Given the description of an element on the screen output the (x, y) to click on. 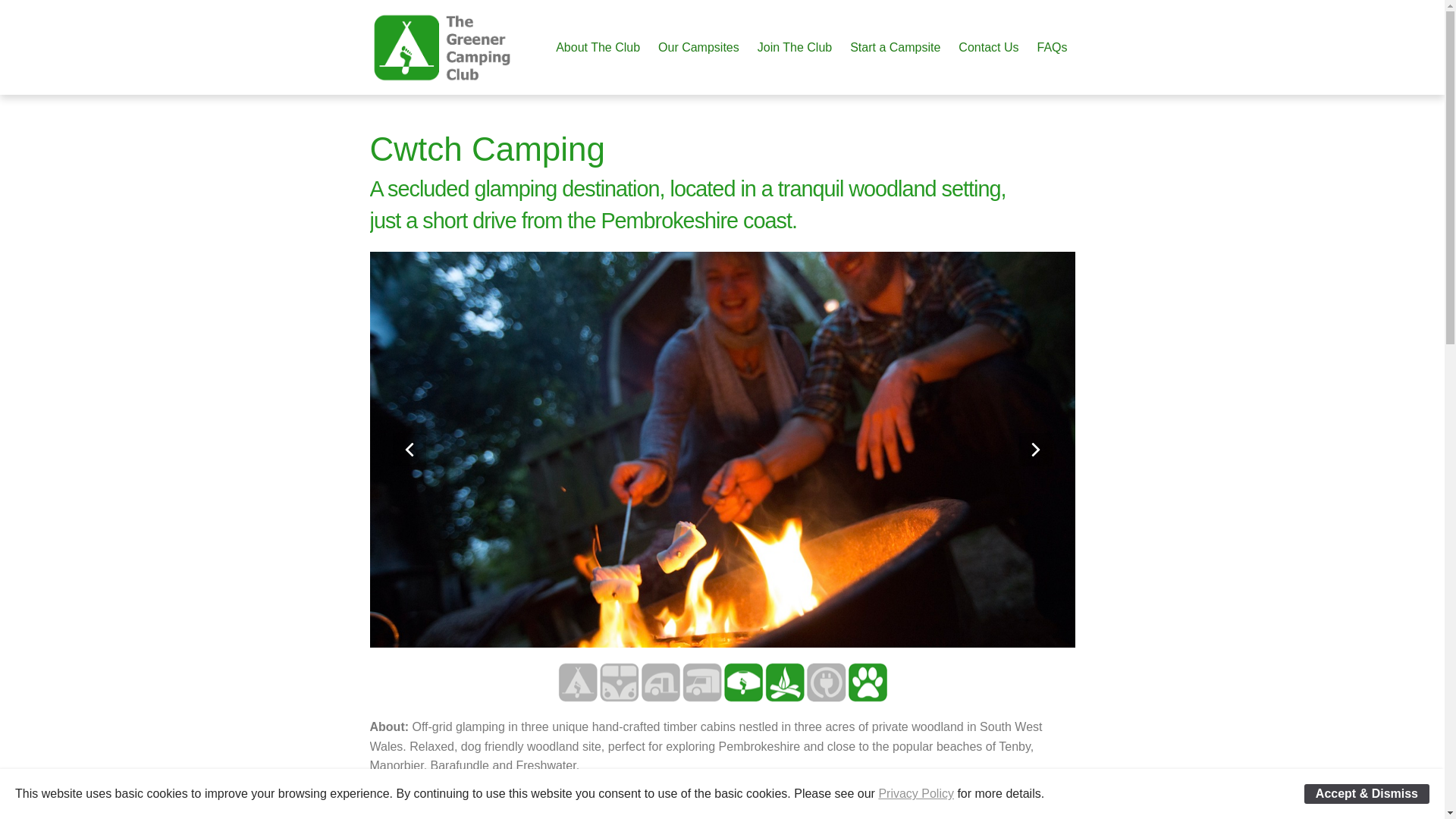
Contact Us (988, 47)
Start a Campsite (895, 47)
Our Campsites (698, 47)
Privacy Policy (915, 793)
About The Club (597, 47)
FAQs (1051, 47)
Join The Club (794, 47)
